Given the description of an element on the screen output the (x, y) to click on. 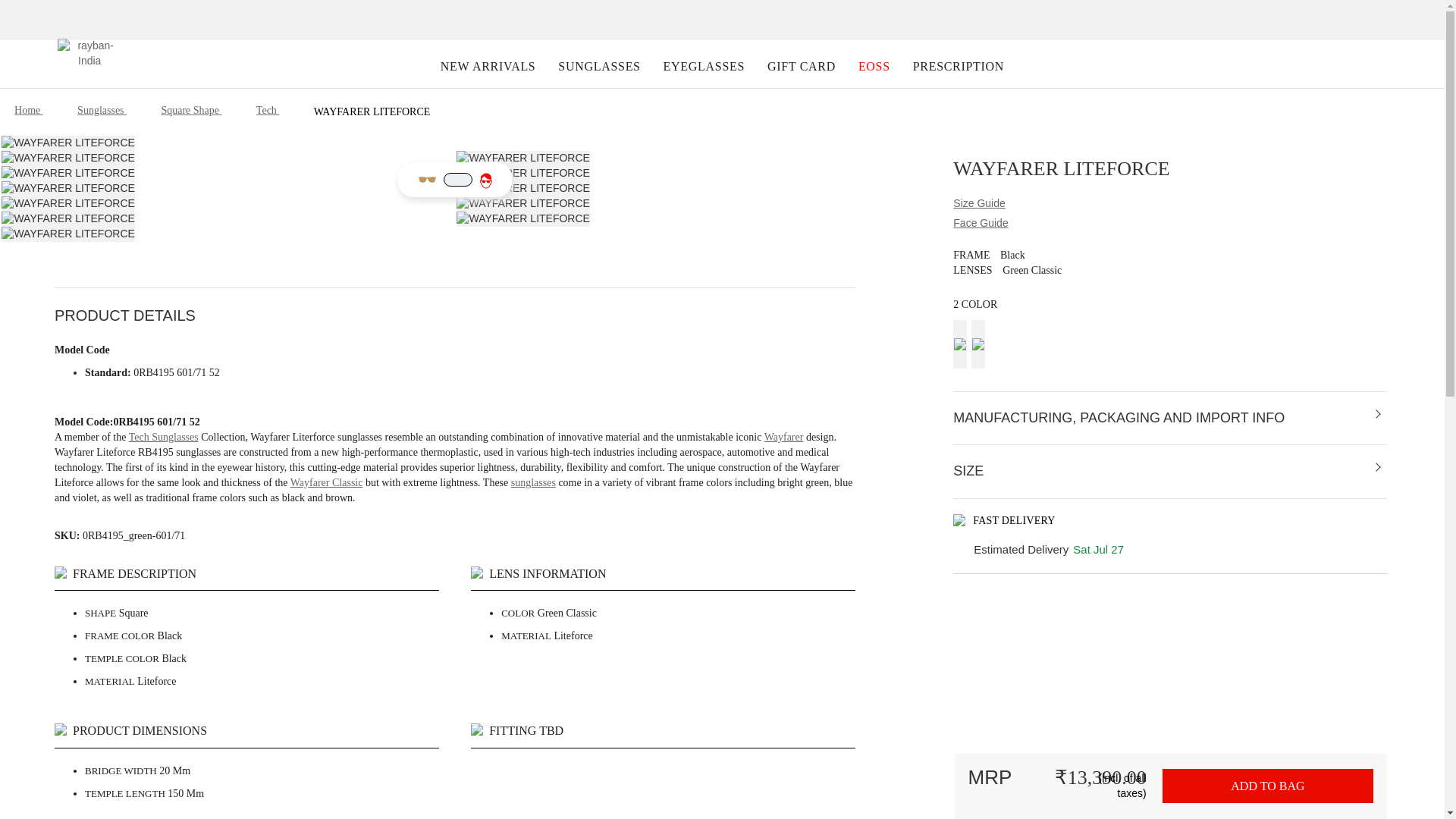
rayban-India (89, 57)
Square Shape (190, 110)
Go to Home Page (28, 110)
Sunglasses (101, 110)
PRESCRIPTION (957, 66)
Tech (267, 110)
Add to Bag (1267, 786)
EOSS (873, 66)
GIFT CARD (801, 66)
SUNGLASSES (598, 66)
EYEGLASSES (703, 66)
NEW ARRIVALS (488, 66)
